Given the description of an element on the screen output the (x, y) to click on. 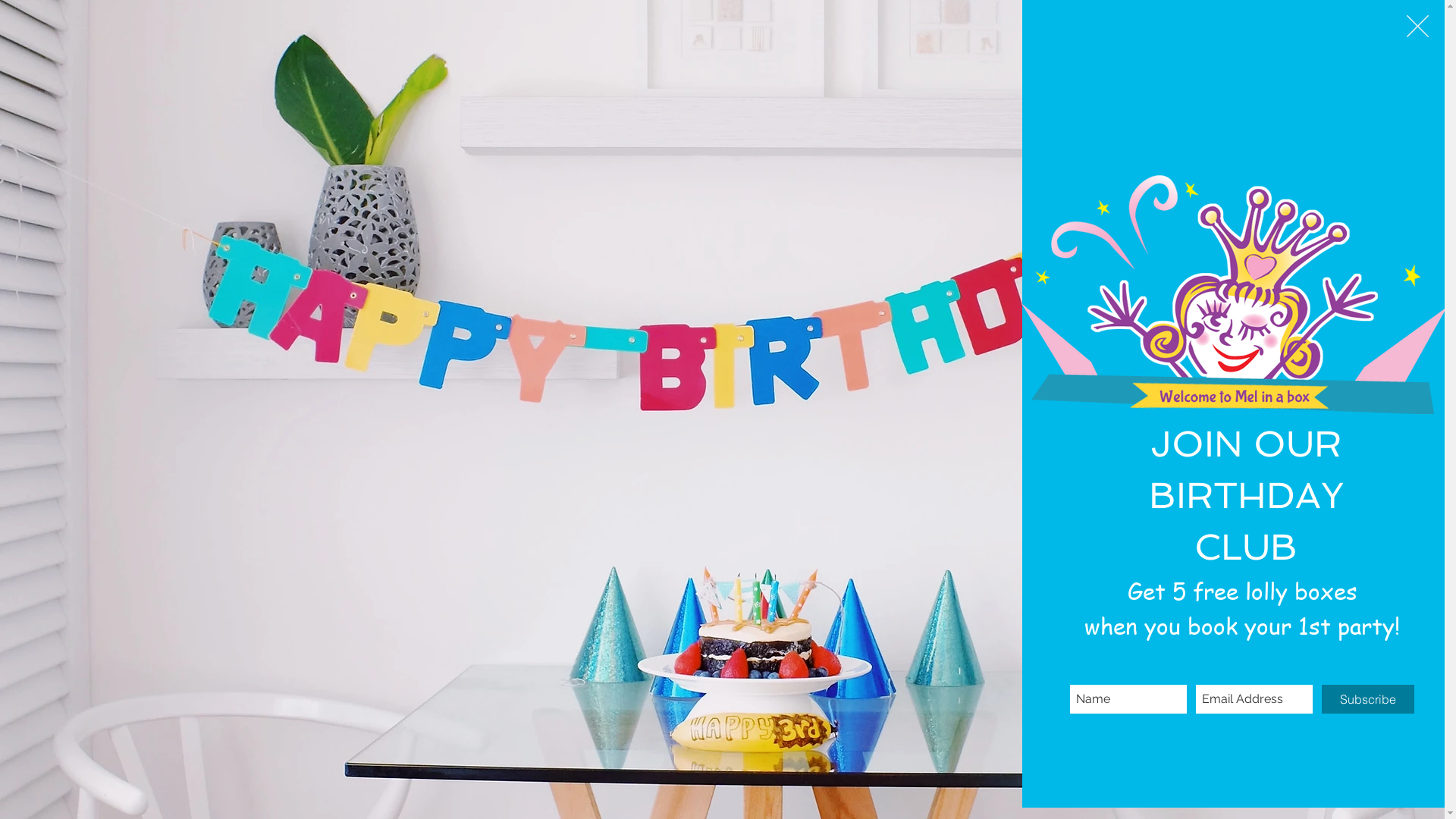
Gallery Element type: text (1230, 37)
Back to site Element type: hover (1417, 26)
Party Planning Element type: text (1055, 37)
Contact Element type: text (1306, 37)
Party Entertainment Element type: text (931, 37)
Subscribe Element type: text (1367, 698)
Blog Element type: text (1377, 37)
Home Element type: text (827, 37)
Lolly Box Element type: text (1152, 37)
